Given the description of an element on the screen output the (x, y) to click on. 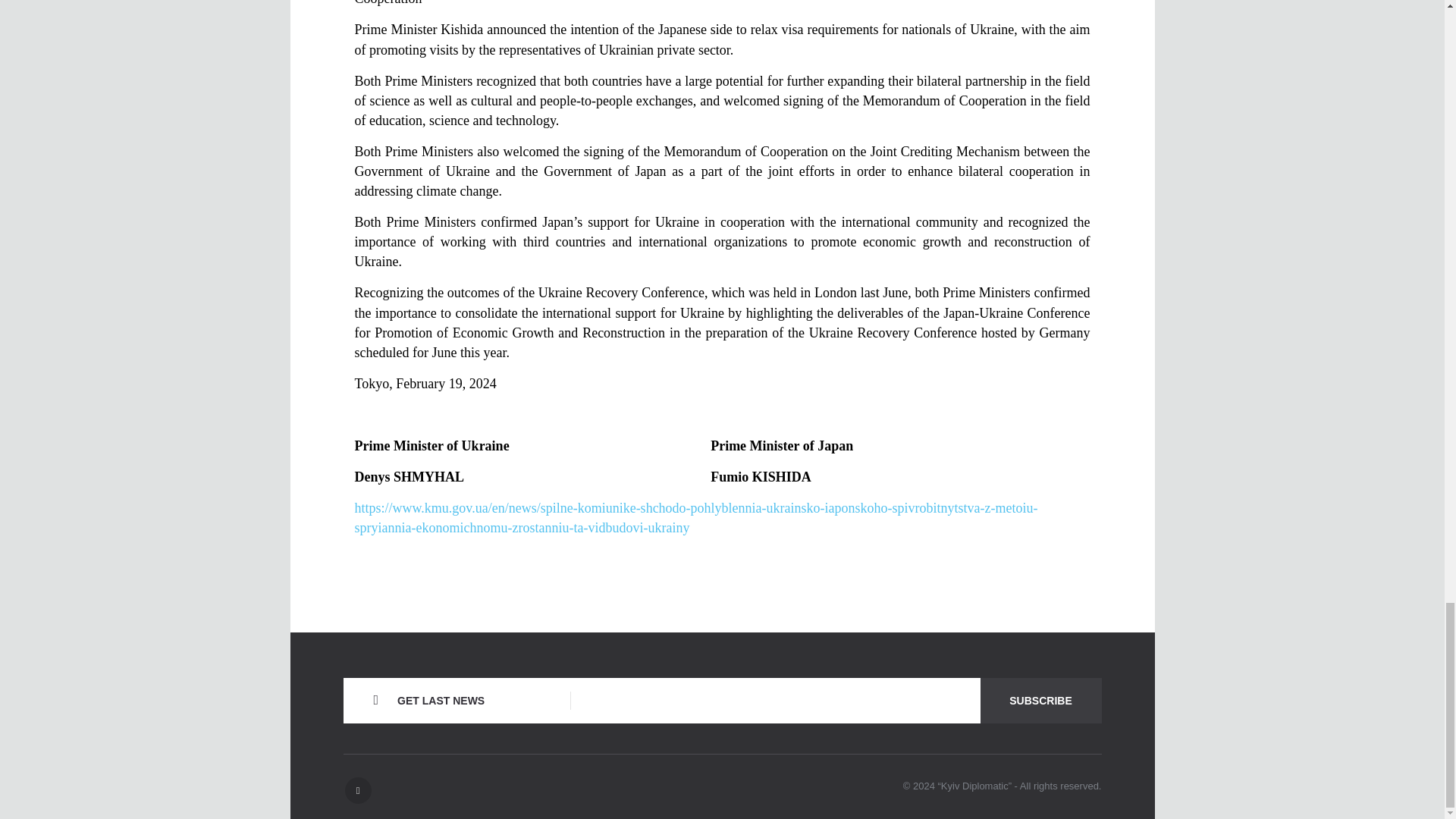
SUBSCRIBE (1039, 700)
